Given the description of an element on the screen output the (x, y) to click on. 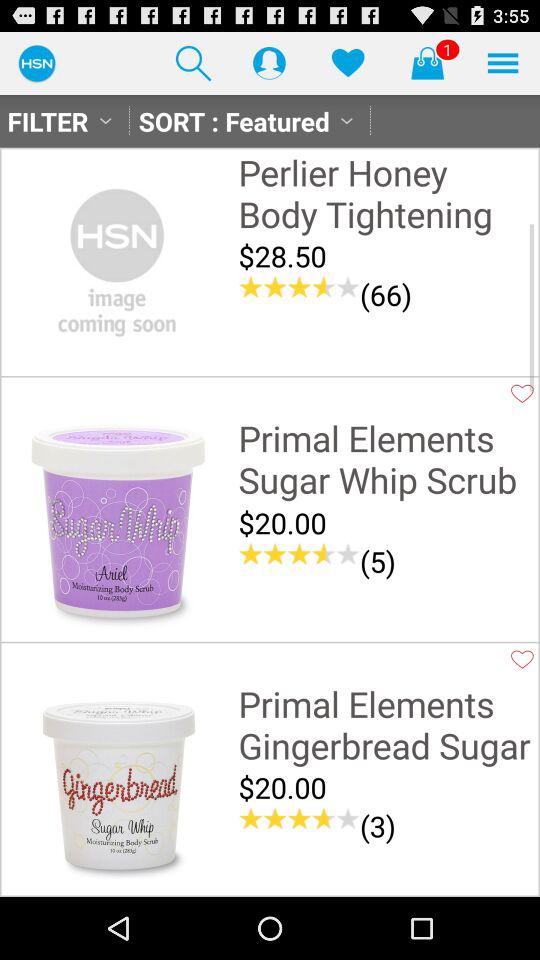
launch icon to the left of the (66) icon (299, 287)
